Given the description of an element on the screen output the (x, y) to click on. 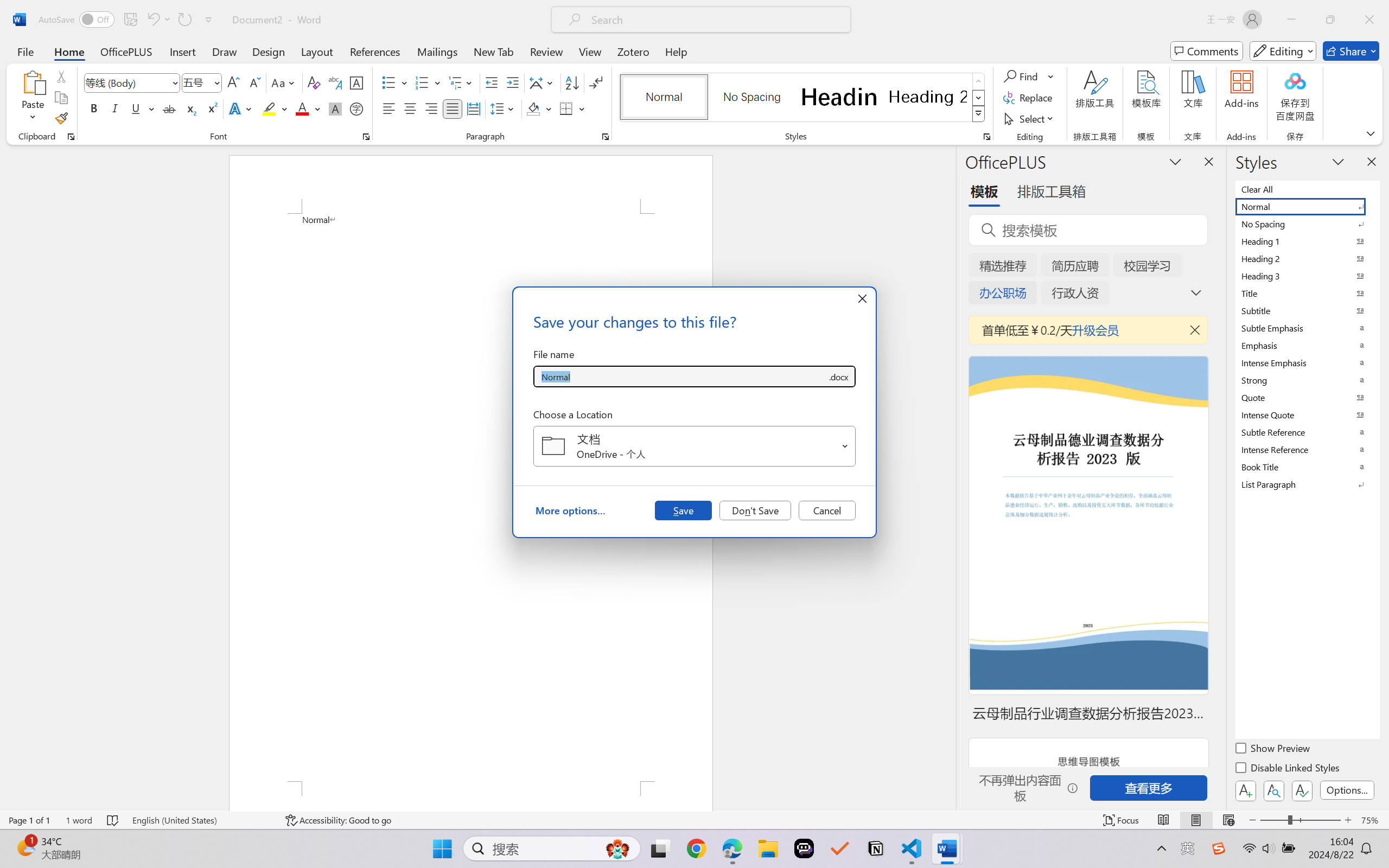
Row up (978, 81)
Read Mode (1163, 819)
Normal (1306, 206)
Class: MsoCommandBar (694, 819)
Multilevel List (461, 82)
Home (69, 51)
Find (1029, 75)
Decrease Indent (491, 82)
